Given the description of an element on the screen output the (x, y) to click on. 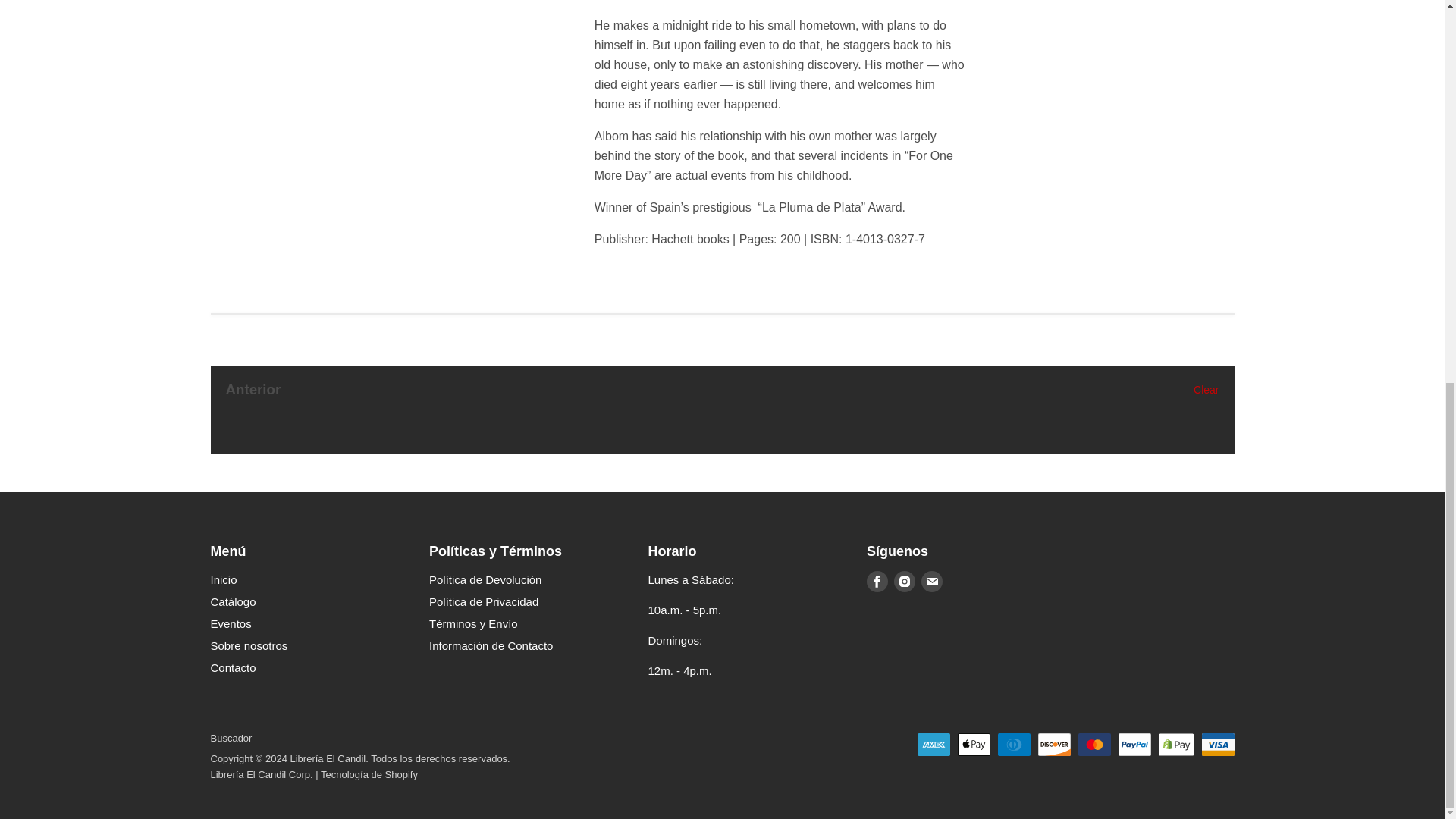
E-mail (931, 581)
Facebook (877, 581)
Inicio (224, 579)
Contacto (233, 667)
Eventos (231, 623)
Instagram (904, 581)
Sobre nosotros (249, 645)
